Given the description of an element on the screen output the (x, y) to click on. 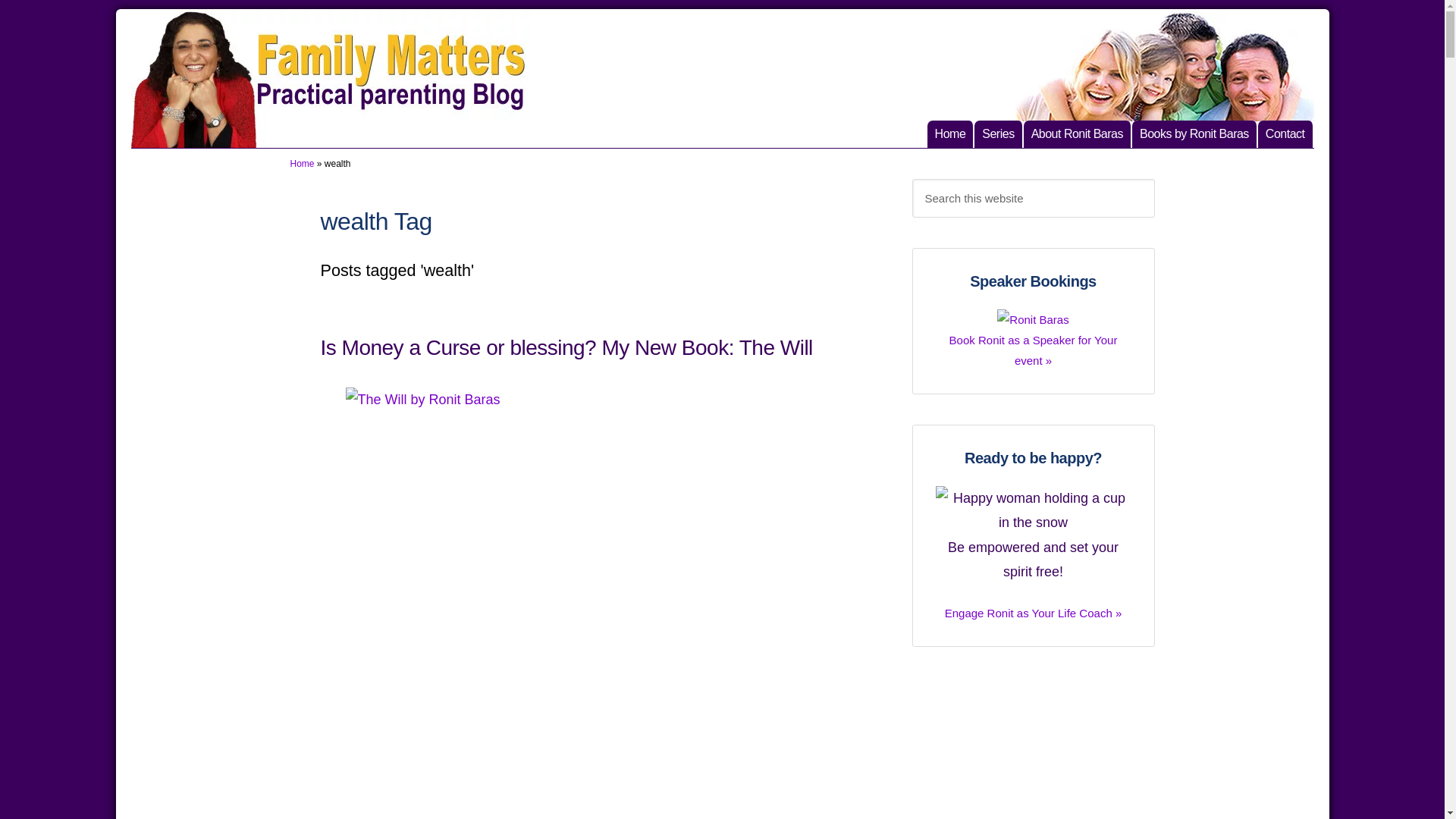
Skip to primary navigation (301, 163)
Contact (566, 347)
Advertisement (1285, 134)
About Ronit Baras (1032, 748)
Books by Ronit Baras (1077, 134)
Series (1194, 134)
Home (998, 134)
